Given the description of an element on the screen output the (x, y) to click on. 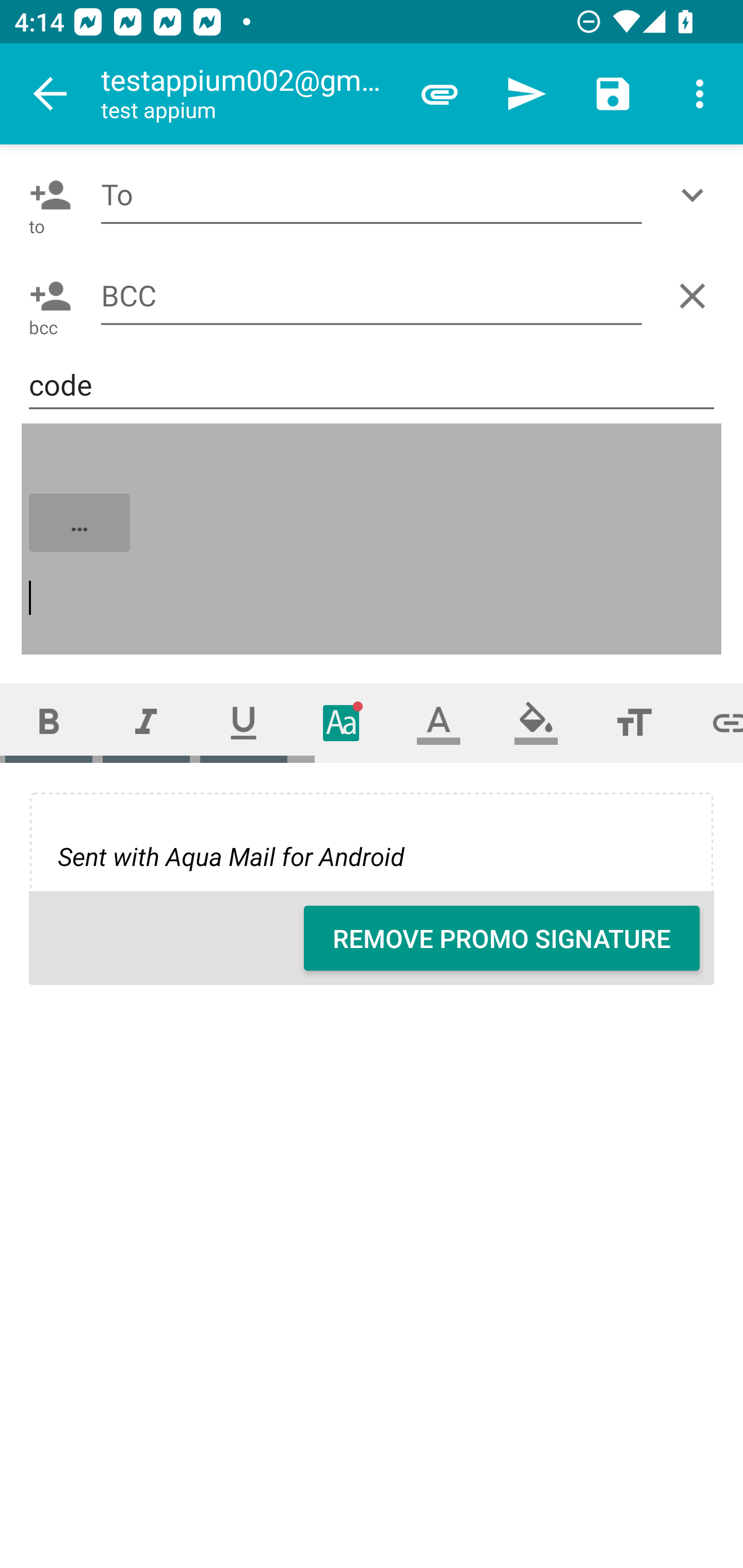
Navigate up (50, 93)
testappium002@gmail.com test appium (248, 93)
Attach (439, 93)
Send (525, 93)
Save (612, 93)
More options (699, 93)
Pick contact: To (46, 195)
Show/Add CC/BCC (696, 195)
To (371, 195)
Pick contact: BCC (46, 296)
Delete (696, 296)
BCC (371, 295)
code (371, 384)

…
 (372, 540)
Bold (48, 723)
Italic (145, 723)
Underline (243, 723)
Typeface (font) (341, 723)
Text color (438, 723)
Fill color (536, 723)
Font size (633, 723)
REMOVE PROMO SIGNATURE (501, 938)
